Given the description of an element on the screen output the (x, y) to click on. 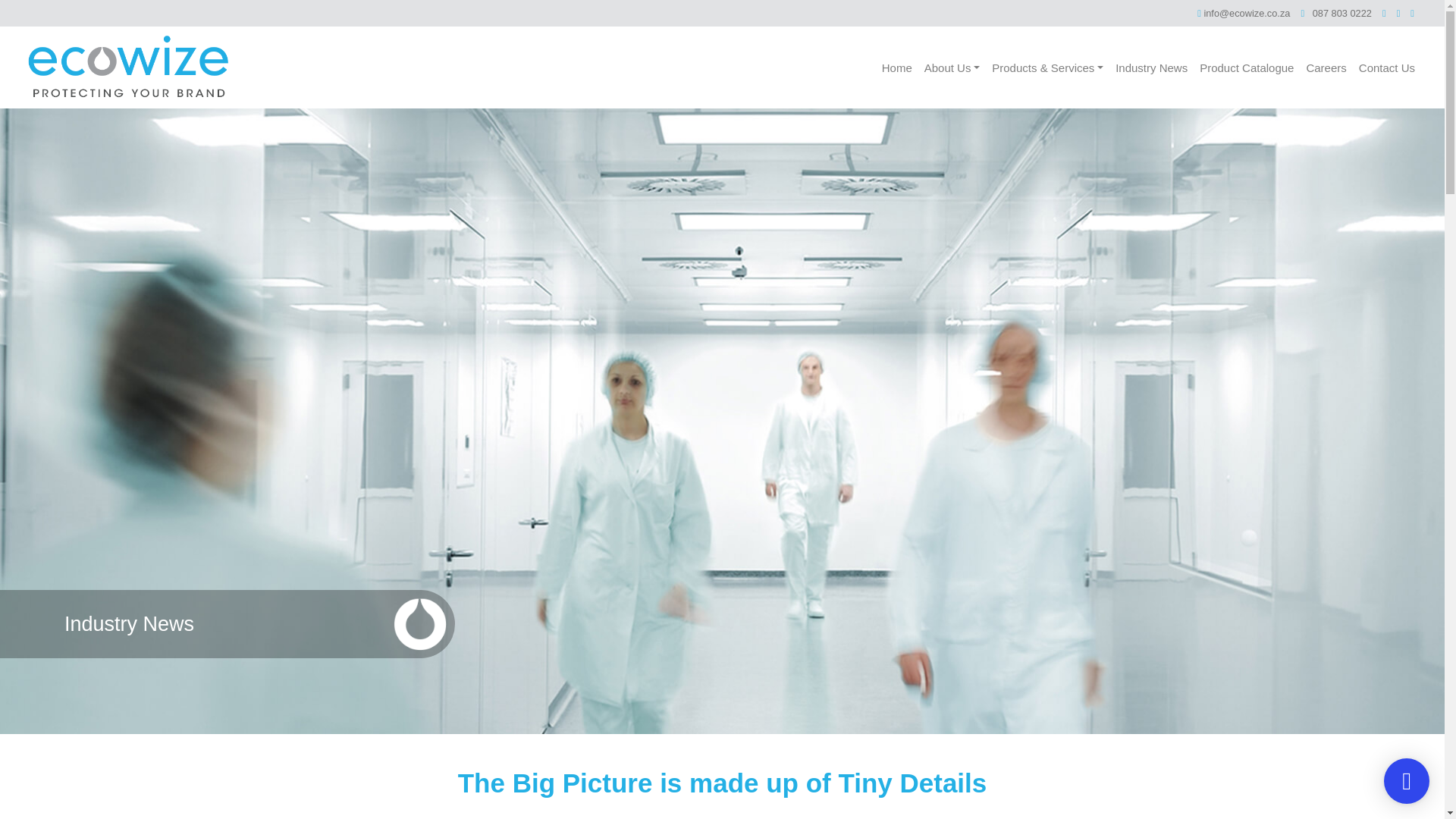
About Us (952, 67)
087 803 0222 (1336, 12)
Home (897, 67)
Product Catalogue (1246, 67)
Contact Us (1386, 67)
Careers (1326, 67)
Industry News (1151, 67)
